Given the description of an element on the screen output the (x, y) to click on. 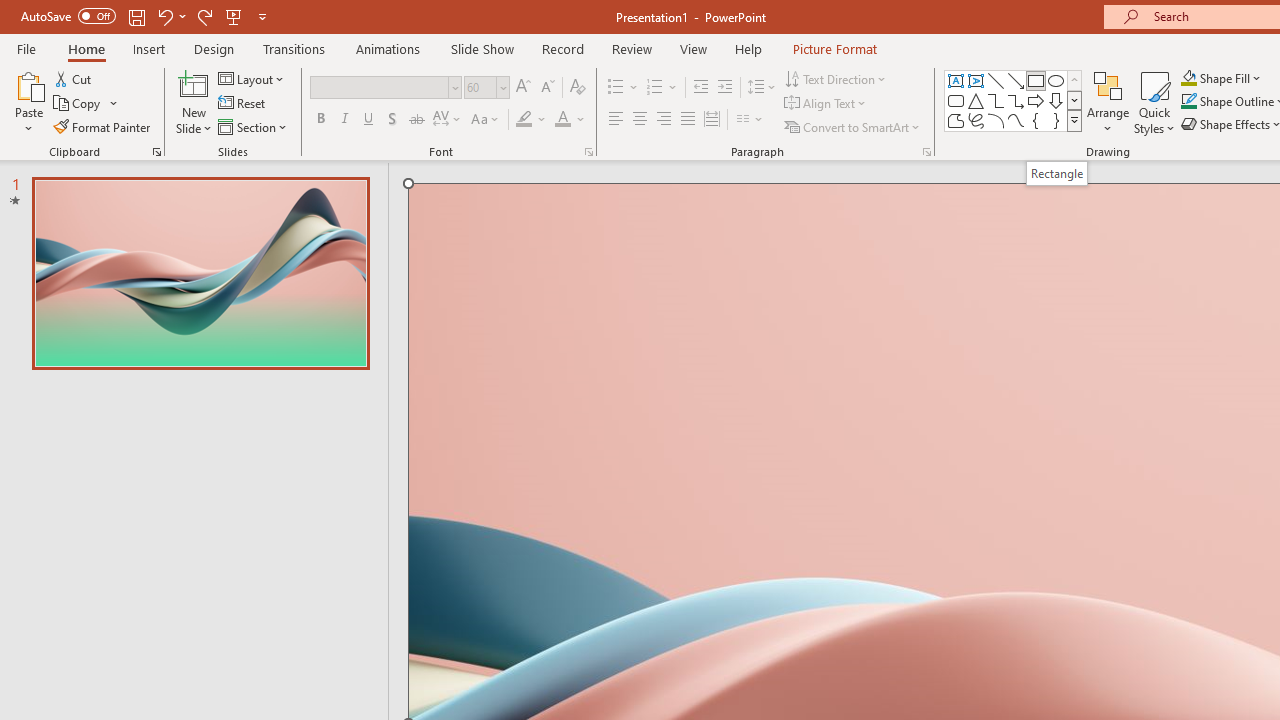
Picture Format (834, 48)
Shape Fill Orange, Accent 2 (1188, 78)
